Given the description of an element on the screen output the (x, y) to click on. 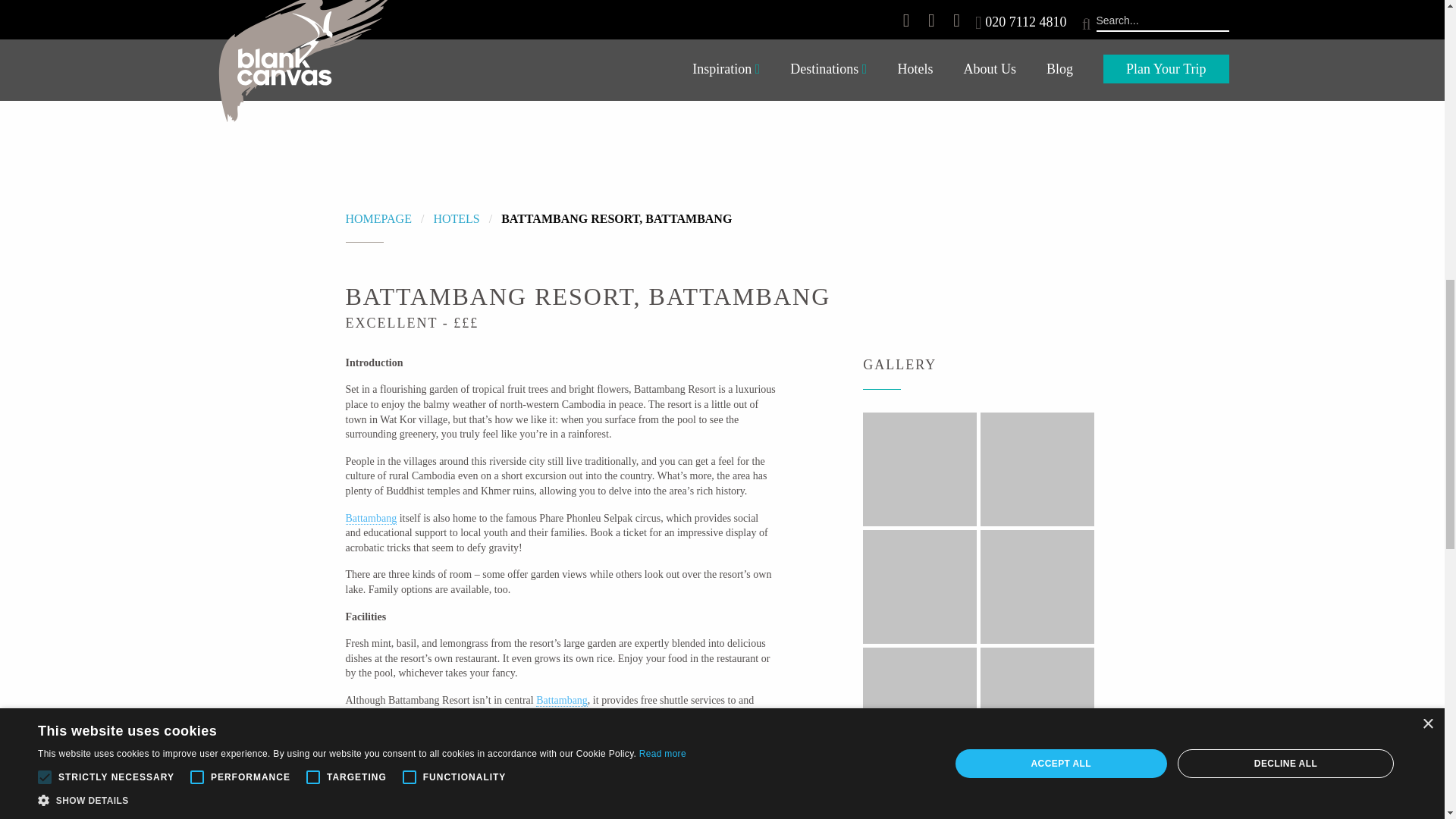
Battambang Resort, Battambang (616, 218)
Homepage (379, 218)
Hotels (455, 218)
